Given the description of an element on the screen output the (x, y) to click on. 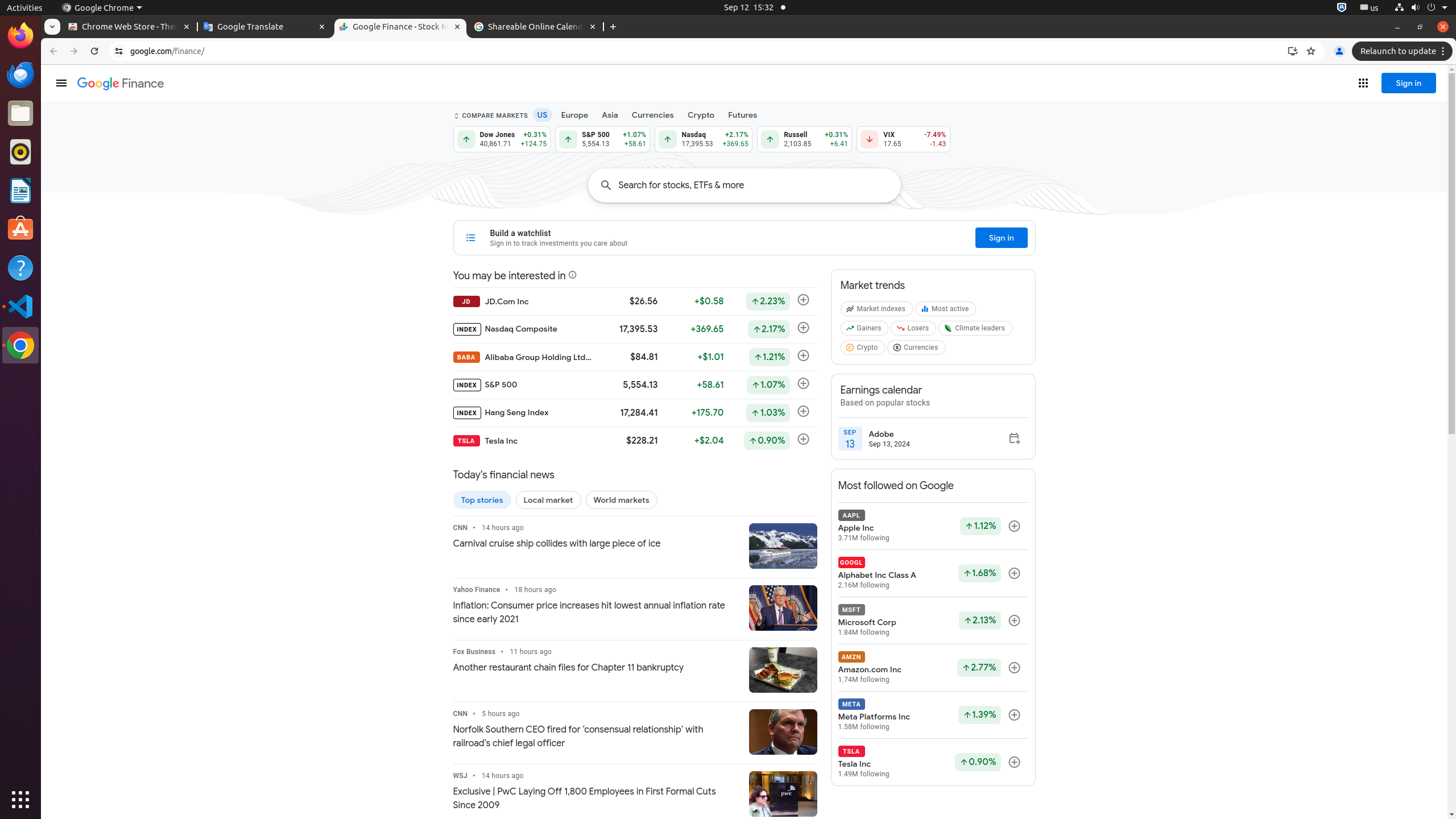
META Meta Platforms Inc 1.58M following Up by 1.39% Follow Element type: link (932, 714)
Install Google Finance Element type: push-button (1292, 51)
INDEX Hang Seng Index 17,284.41 +175.70 Up by 1.03% Follow Element type: link (634, 412)
Local market Element type: page-tab (548, 499)
Top stories Element type: page-tab (481, 499)
